Given the description of an element on the screen output the (x, y) to click on. 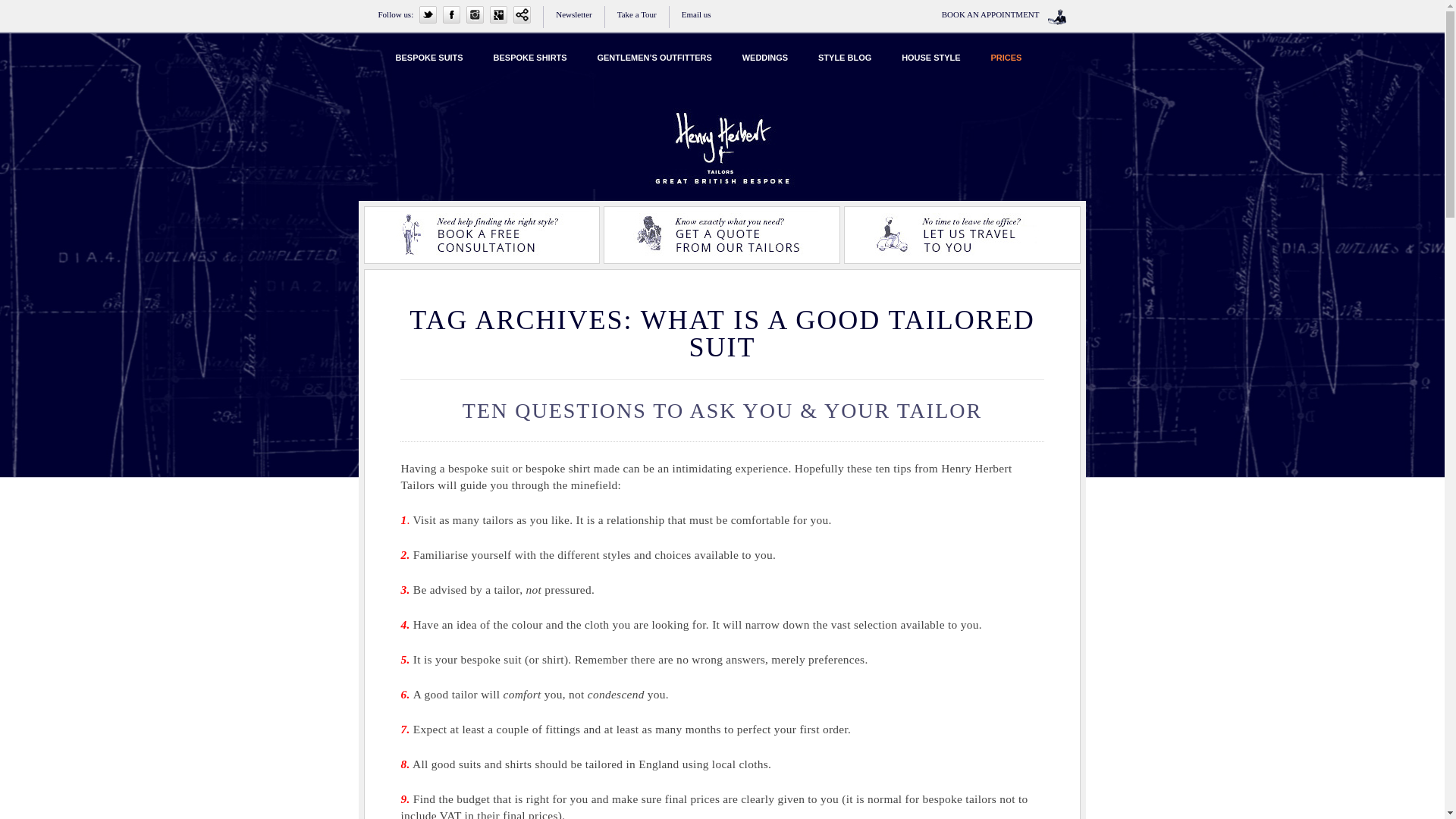
Share (522, 14)
Bespoke Suits By Savile Row Tailors (578, 118)
Let us travel to you by scooter (962, 234)
WEDDINGS (764, 57)
Take a Tour (636, 14)
HOUSE STYLE (930, 57)
BOOK AN APPOINTMENT (990, 14)
Skip to content (757, 47)
Google Plus (497, 14)
Email us (696, 14)
